Given the description of an element on the screen output the (x, y) to click on. 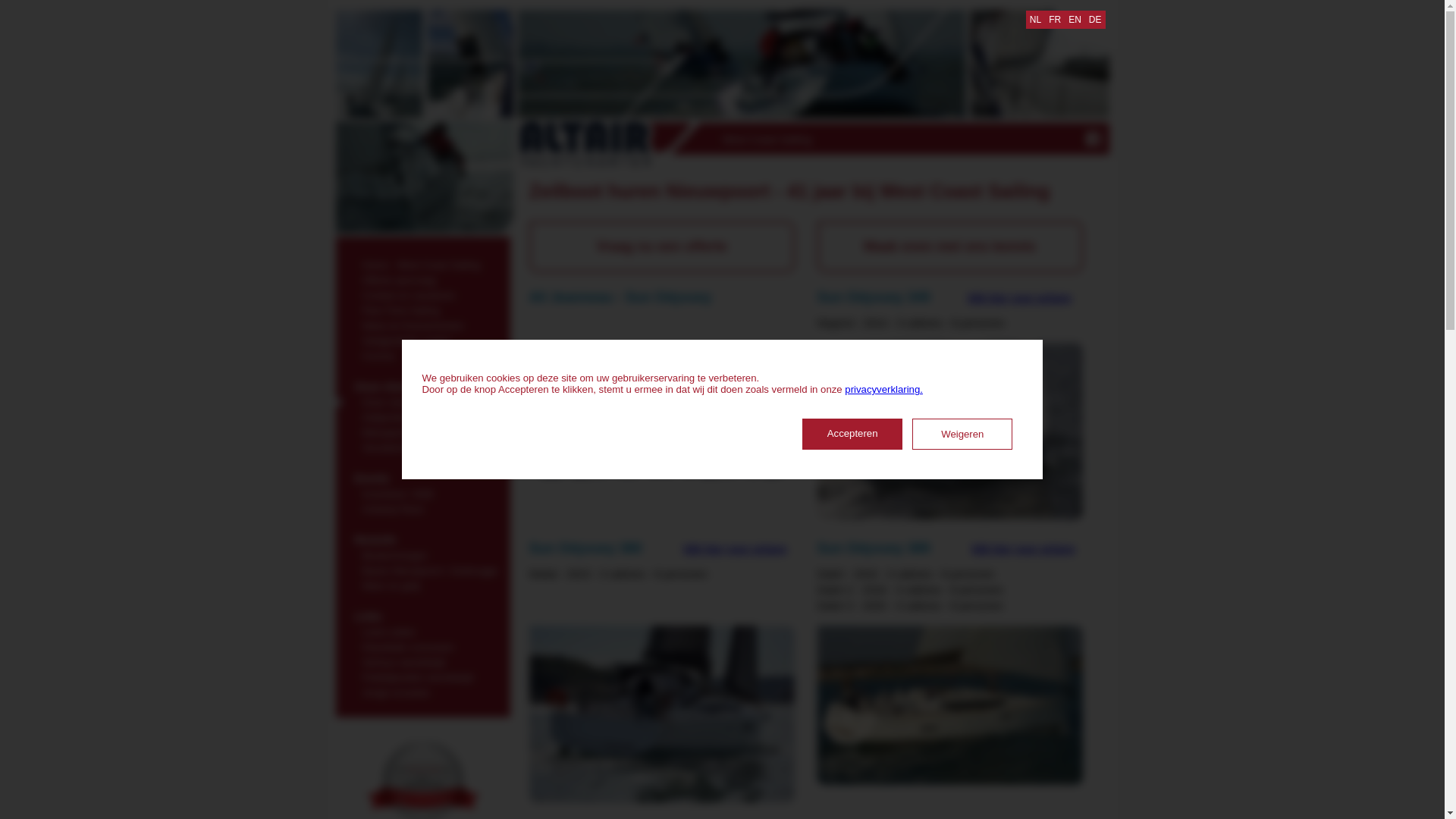
Flexi Time Sailing Element type: text (422, 308)
Weigeren Element type: text (962, 433)
Offerte aanvraag Element type: text (422, 277)
NL Element type: text (1035, 19)
Jonge occasies Element type: text (422, 690)
Sun Odyssey 380 Element type: hover (661, 713)
Klassikale cursussen Element type: text (422, 644)
Veelgestelde vragen Element type: text (422, 338)
Zeiljachten prijzen Element type: text (422, 415)
Bestemmingen Element type: text (422, 553)
privacyverklaring. Element type: text (883, 389)
Verzekering / Kwaliteitgarantie Element type: text (422, 445)
Sun Odyssey 349 Element type: hover (949, 431)
Corona Element type: text (422, 353)
Sun Odyssey 389 Element type: hover (949, 704)
Flottieljezeilen wereldwijd Element type: text (422, 675)
Leren zeilen Element type: text (422, 629)
Bases Nieuwpoort / Zeebrugge Element type: text (422, 568)
klik hier voor prijzen Element type: text (1019, 297)
News en Evenementen Element type: text (422, 323)
FR Element type: text (1054, 19)
Vraag nu een offerte Element type: text (661, 246)
DE Element type: text (1095, 19)
Maak even met ons kennis Element type: text (949, 246)
EN Element type: text (1074, 19)
Onze Jeanneau jachten Element type: text (422, 399)
Facebook Element type: hover (1093, 138)
Motorjachten Element type: text (422, 430)
Contact en vacatures Element type: text (422, 293)
Accepteren Element type: text (852, 433)
Home - West Coast Sailing Element type: text (422, 262)
klik hier voor prijzen Element type: text (735, 548)
klik hier voor prijzen Element type: text (1023, 548)
Incentives / B2B Element type: text (422, 491)
Verhuur wereldwijd Element type: text (422, 660)
Weer en getij Element type: text (422, 583)
Antwerp Race Element type: text (422, 506)
